Given the description of an element on the screen output the (x, y) to click on. 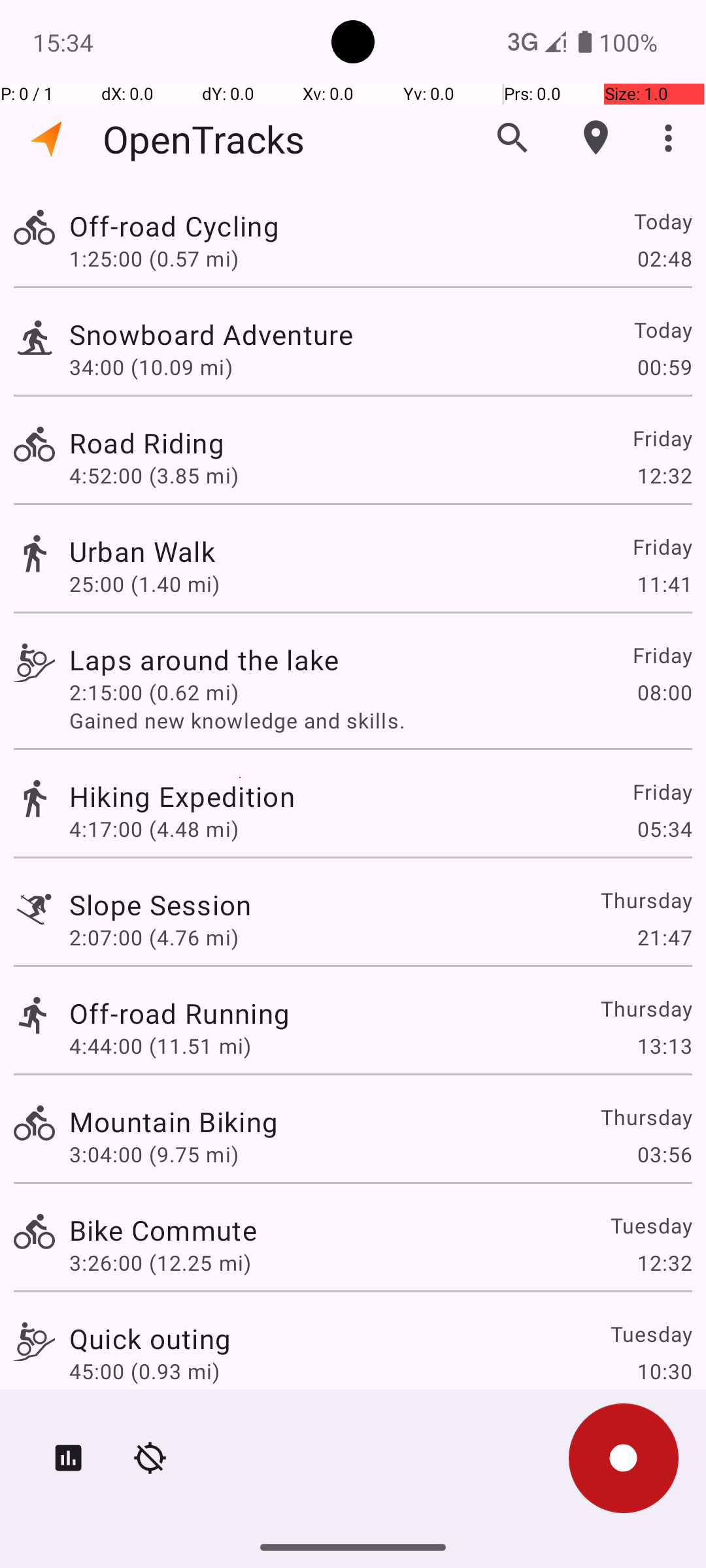
OpenTracks Element type: android.widget.TextView (203, 138)
Markers Element type: android.widget.Button (595, 137)
Record Element type: android.widget.ImageButton (623, 1458)
Track Element type: android.widget.ImageView (33, 227)
Off-road Cycling Element type: android.widget.TextView (173, 225)
Today Element type: android.widget.TextView (662, 221)
1:25:00 (0.57 mi) Element type: android.widget.TextView (153, 258)
02:48 Element type: android.widget.TextView (664, 258)
Snowboard Adventure Element type: android.widget.TextView (210, 333)
34:00 (10.09 mi) Element type: android.widget.TextView (150, 366)
00:59 Element type: android.widget.TextView (664, 366)
Road Riding Element type: android.widget.TextView (146, 442)
Friday Element type: android.widget.TextView (661, 438)
4:52:00 (3.85 mi) Element type: android.widget.TextView (153, 475)
12:32 Element type: android.widget.TextView (664, 475)
Urban Walk Element type: android.widget.TextView (141, 550)
25:00 (1.40 mi) Element type: android.widget.TextView (144, 583)
11:41 Element type: android.widget.TextView (664, 583)
Laps around the lake Element type: android.widget.TextView (203, 659)
2:15:00 (0.62 mi) Element type: android.widget.TextView (153, 692)
08:00 Element type: android.widget.TextView (664, 692)
Gained new knowledge and skills. Element type: android.widget.TextView (380, 720)
Hiking Expedition Element type: android.widget.TextView (181, 795)
4:17:00 (4.48 mi) Element type: android.widget.TextView (153, 828)
05:34 Element type: android.widget.TextView (664, 828)
Slope Session Element type: android.widget.TextView (160, 904)
Thursday Element type: android.widget.TextView (645, 899)
2:07:00 (4.76 mi) Element type: android.widget.TextView (153, 937)
21:47 Element type: android.widget.TextView (664, 937)
Off-road Running Element type: android.widget.TextView (179, 1012)
4:44:00 (11.51 mi) Element type: android.widget.TextView (159, 1045)
13:13 Element type: android.widget.TextView (664, 1045)
Mountain Biking Element type: android.widget.TextView (173, 1121)
3:04:00 (9.75 mi) Element type: android.widget.TextView (153, 1154)
03:56 Element type: android.widget.TextView (664, 1154)
Bike Commute Element type: android.widget.TextView (162, 1229)
Tuesday Element type: android.widget.TextView (650, 1225)
3:26:00 (12.25 mi) Element type: android.widget.TextView (159, 1262)
Quick outing Element type: android.widget.TextView (149, 1337)
45:00 (0.93 mi) Element type: android.widget.TextView (144, 1370)
10:30 Element type: android.widget.TextView (664, 1370)
Relaxed and recharged under the sun. Element type: android.widget.TextView (380, 1399)
